Given the description of an element on the screen output the (x, y) to click on. 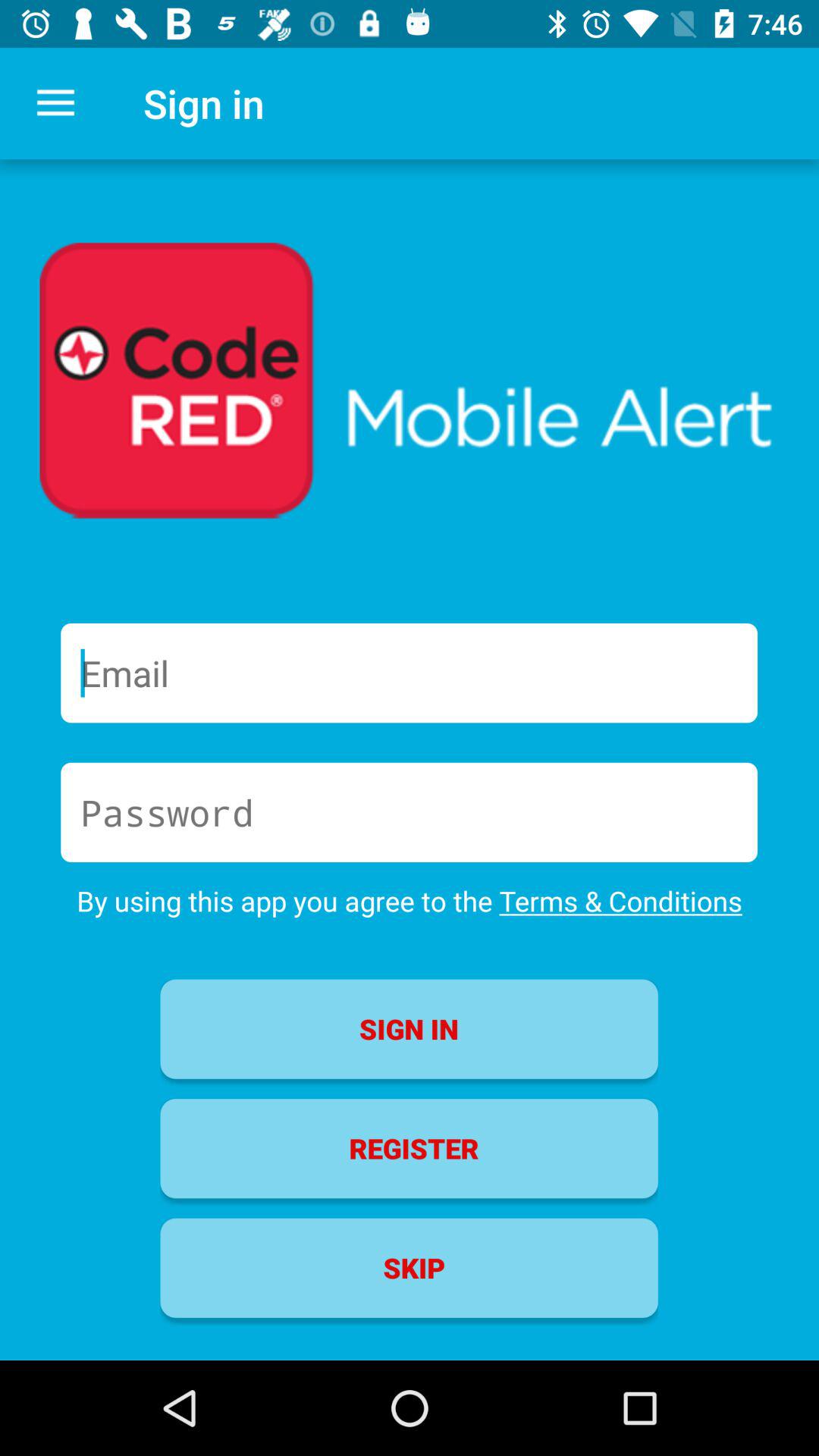
enter email address (408, 672)
